Given the description of an element on the screen output the (x, y) to click on. 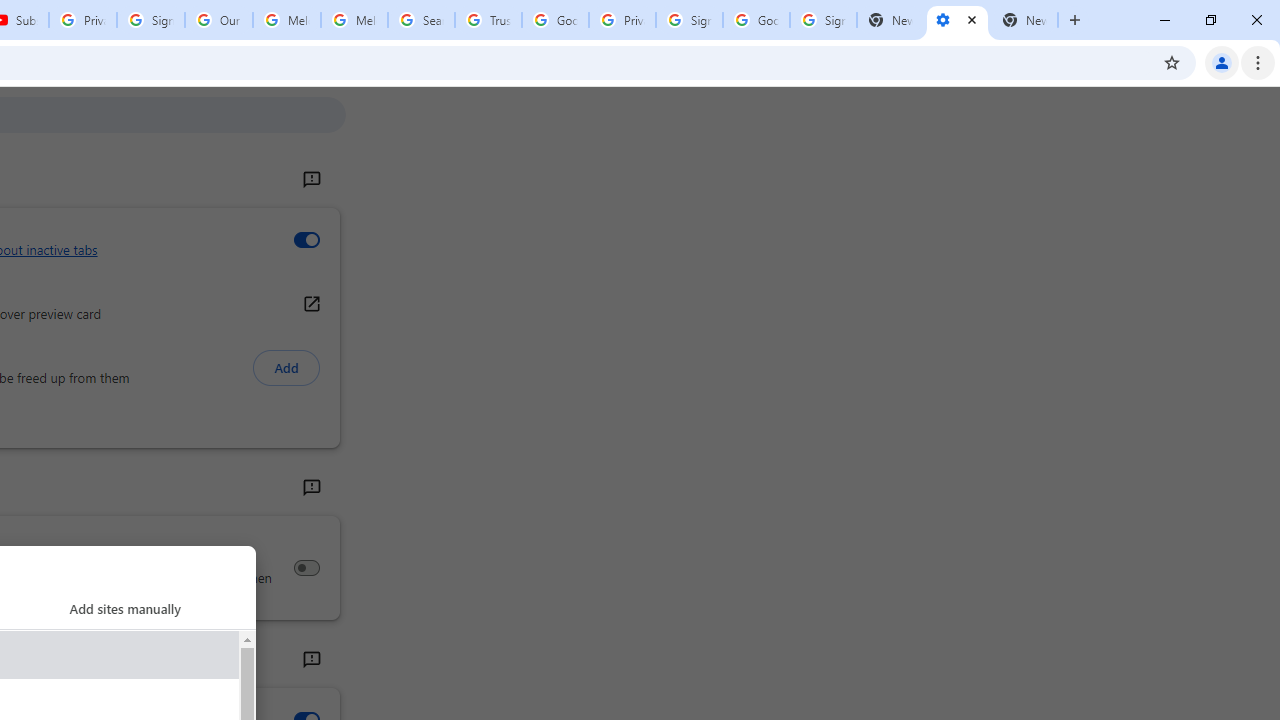
Google Ads - Sign in (555, 20)
Settings - Performance (957, 20)
Google Cybersecurity Innovations - Google Safety Center (756, 20)
